Given the description of an element on the screen output the (x, y) to click on. 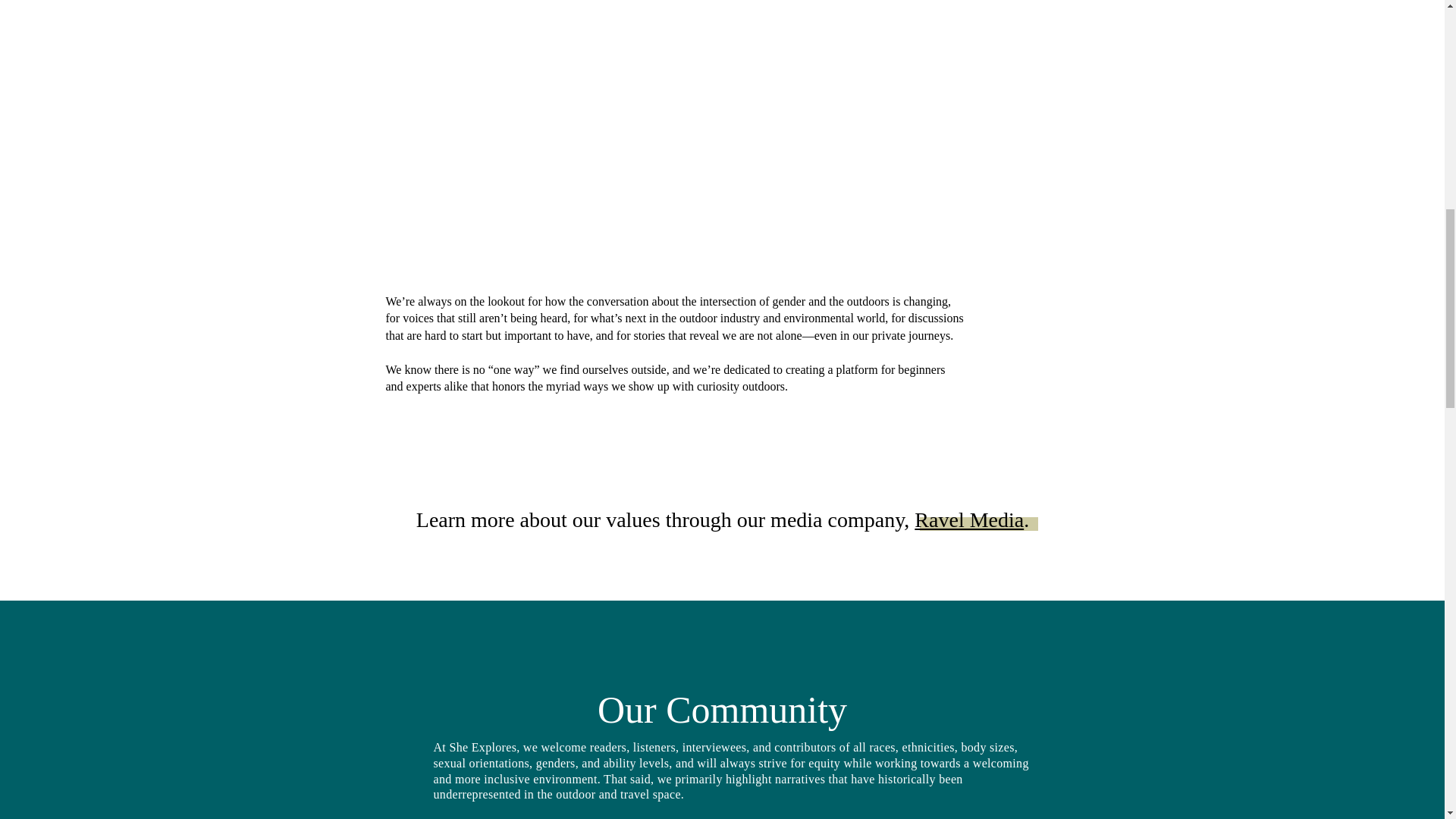
Ravel Media (968, 519)
